Given the description of an element on the screen output the (x, y) to click on. 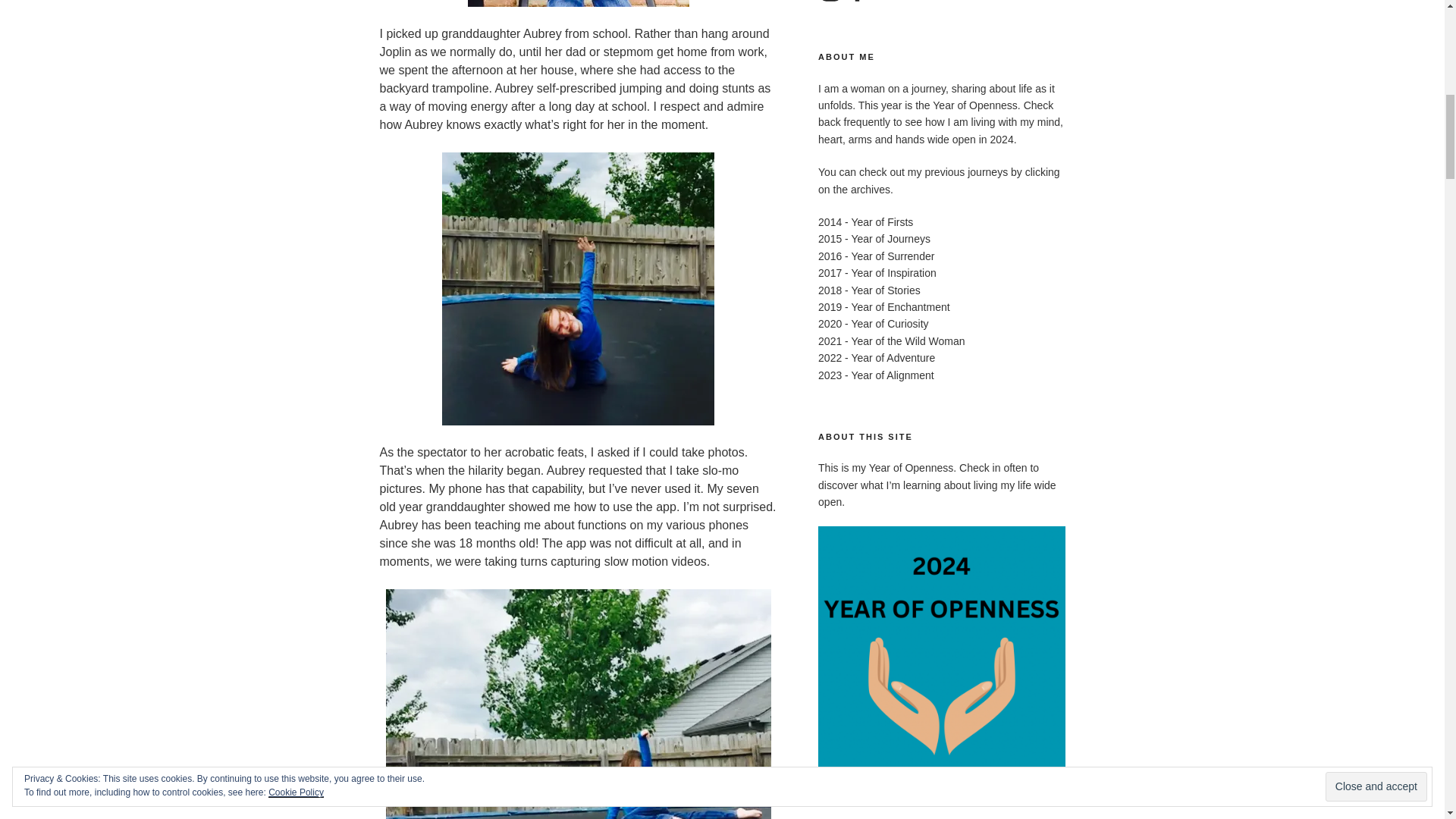
Instagram (830, 2)
Facebook (857, 2)
